Given the description of an element on the screen output the (x, y) to click on. 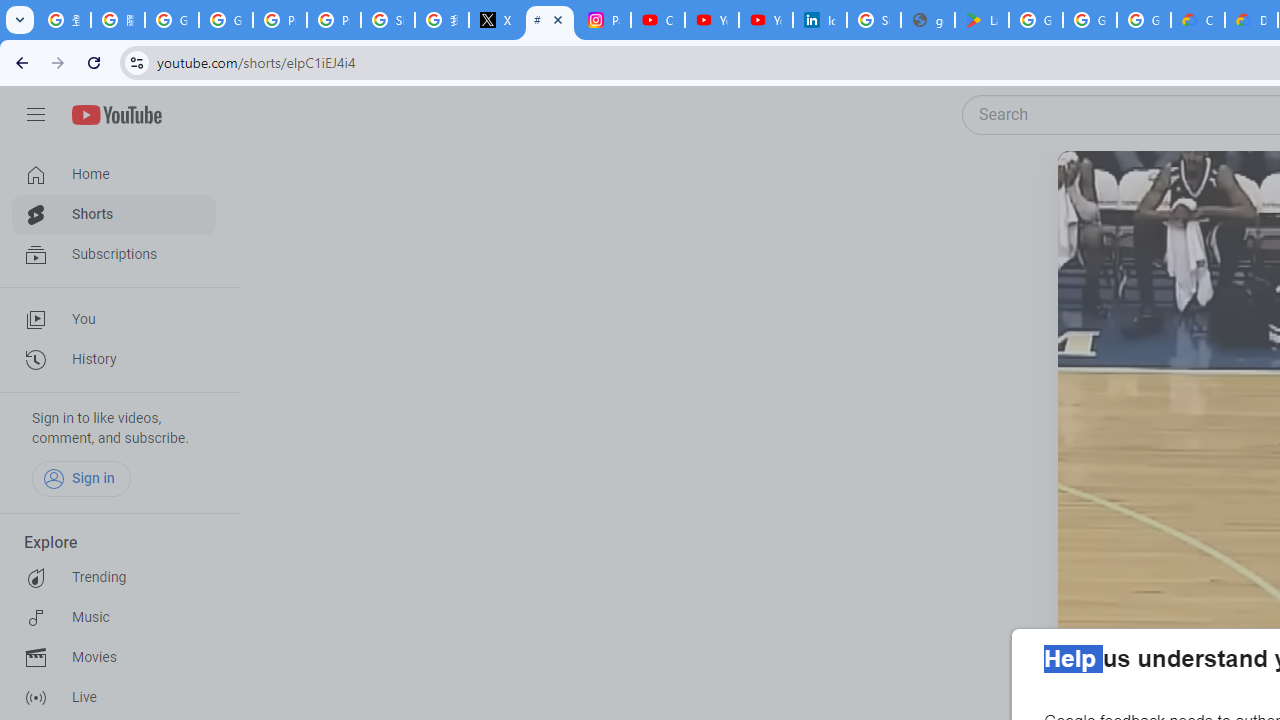
Live (113, 697)
Music (113, 617)
Customer Care | Google Cloud (1197, 20)
YouTube Culture & Trends - YouTube Top 10, 2021 (765, 20)
Movies (113, 657)
X (495, 20)
Google Workspace - Specific Terms (1144, 20)
Sign in - Google Accounts (387, 20)
Home (113, 174)
Mute (1161, 191)
